Given the description of an element on the screen output the (x, y) to click on. 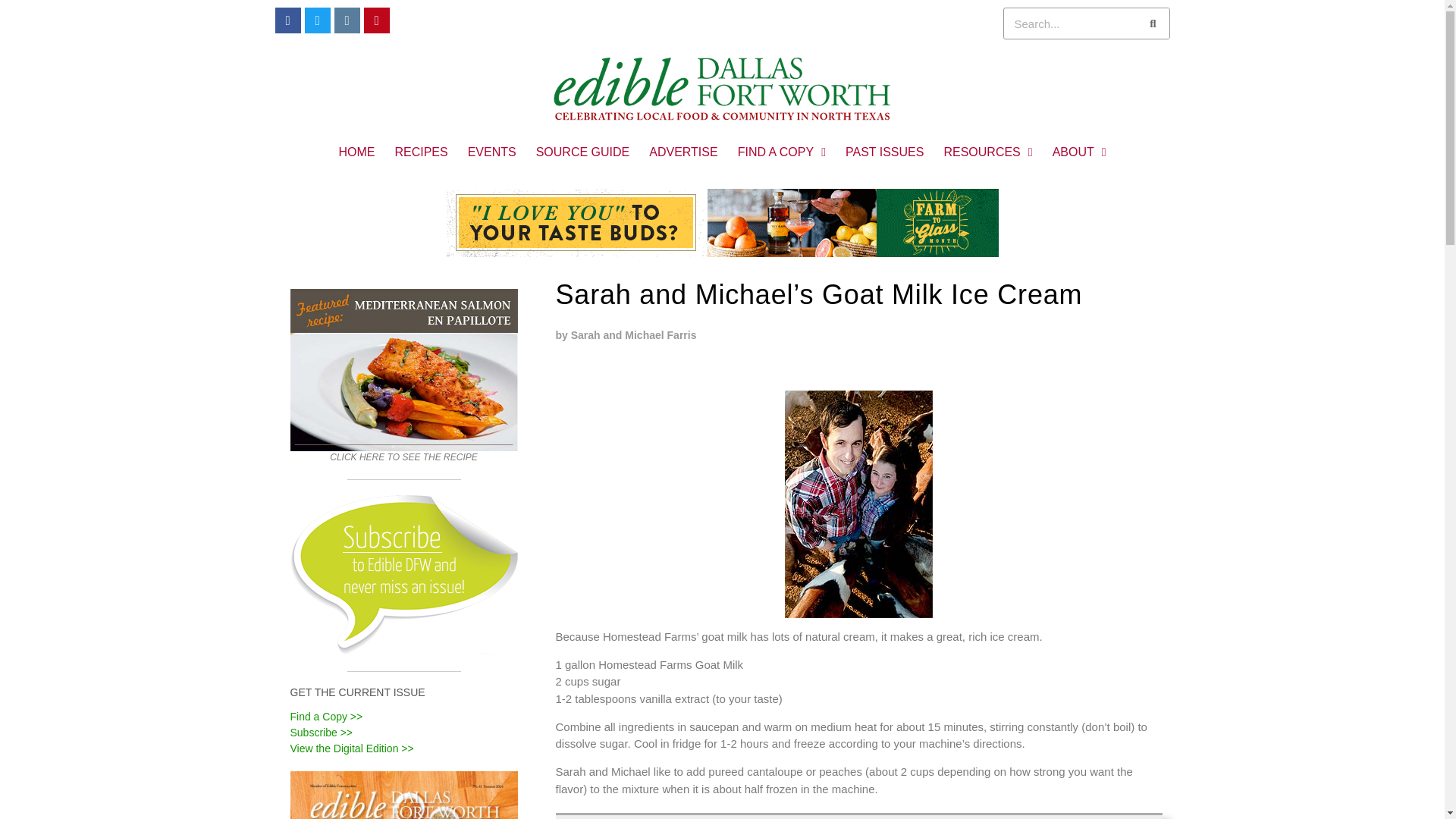
EVENTS (491, 152)
RESOURCES (987, 152)
HOME (356, 152)
FIND A COPY (781, 152)
SOURCE GUIDE (582, 152)
ADVERTISE (682, 152)
ABOUT (1079, 152)
RECIPES (420, 152)
PAST ISSUES (884, 152)
